Given the description of an element on the screen output the (x, y) to click on. 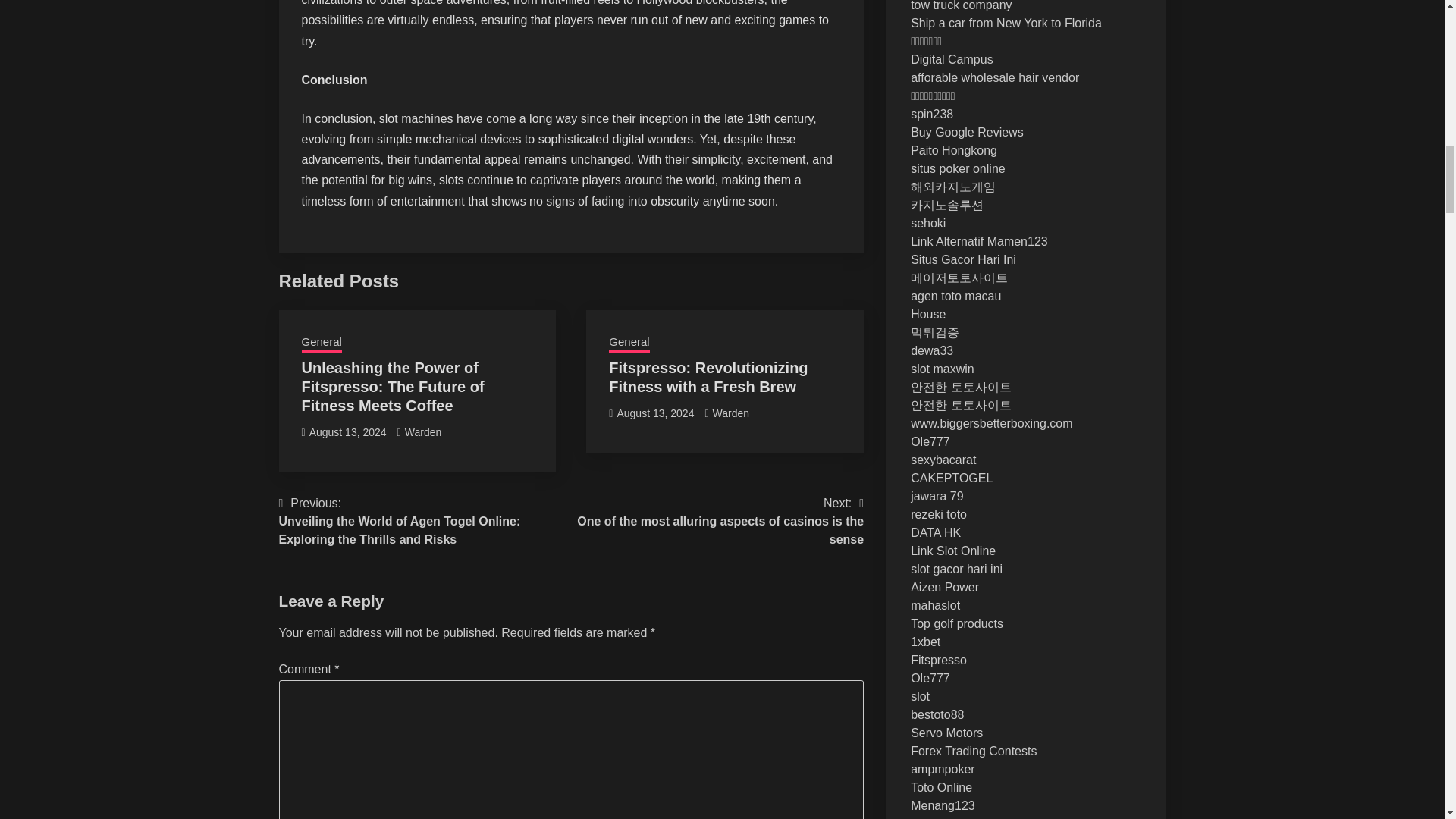
August 13, 2024 (347, 431)
August 13, 2024 (654, 413)
1xbet (925, 641)
Warden (731, 413)
Warden (423, 431)
Fitspresso: Revolutionizing Fitness with a Fresh Brew (708, 376)
General (628, 342)
